Given the description of an element on the screen output the (x, y) to click on. 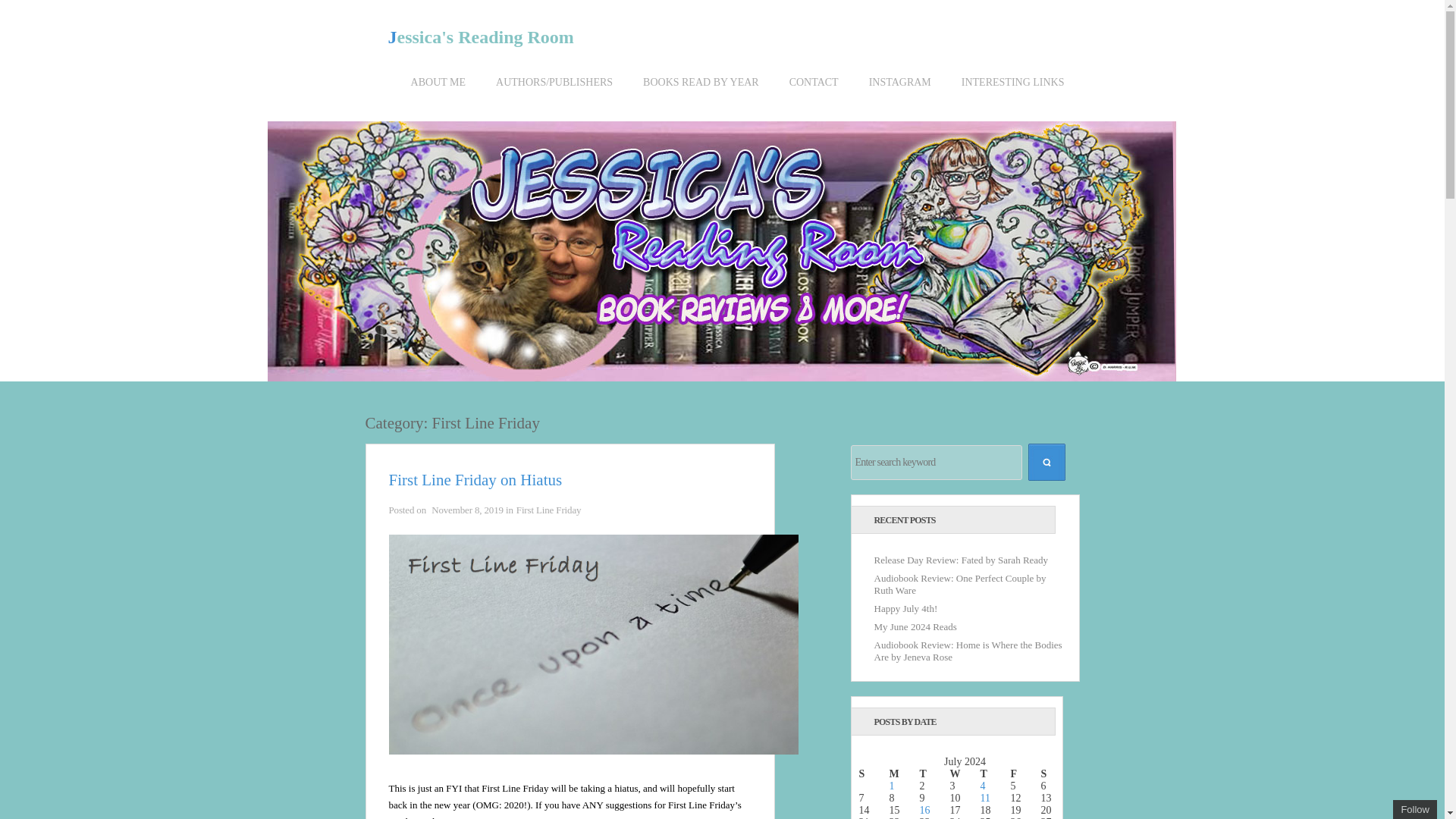
First Line Friday (548, 509)
Sunday (873, 774)
November 8, 2019 (466, 509)
ABOUT ME (438, 93)
Jessica's Reading Room (480, 36)
Wednesday (964, 774)
Thursday (994, 774)
INTERESTING LINKS (1013, 93)
CONTACT (813, 93)
Monday (903, 774)
BOOKS READ BY YEAR (700, 93)
Happy July 4th! (905, 608)
Friday (1025, 774)
My June 2024 Reads (914, 626)
